Given the description of an element on the screen output the (x, y) to click on. 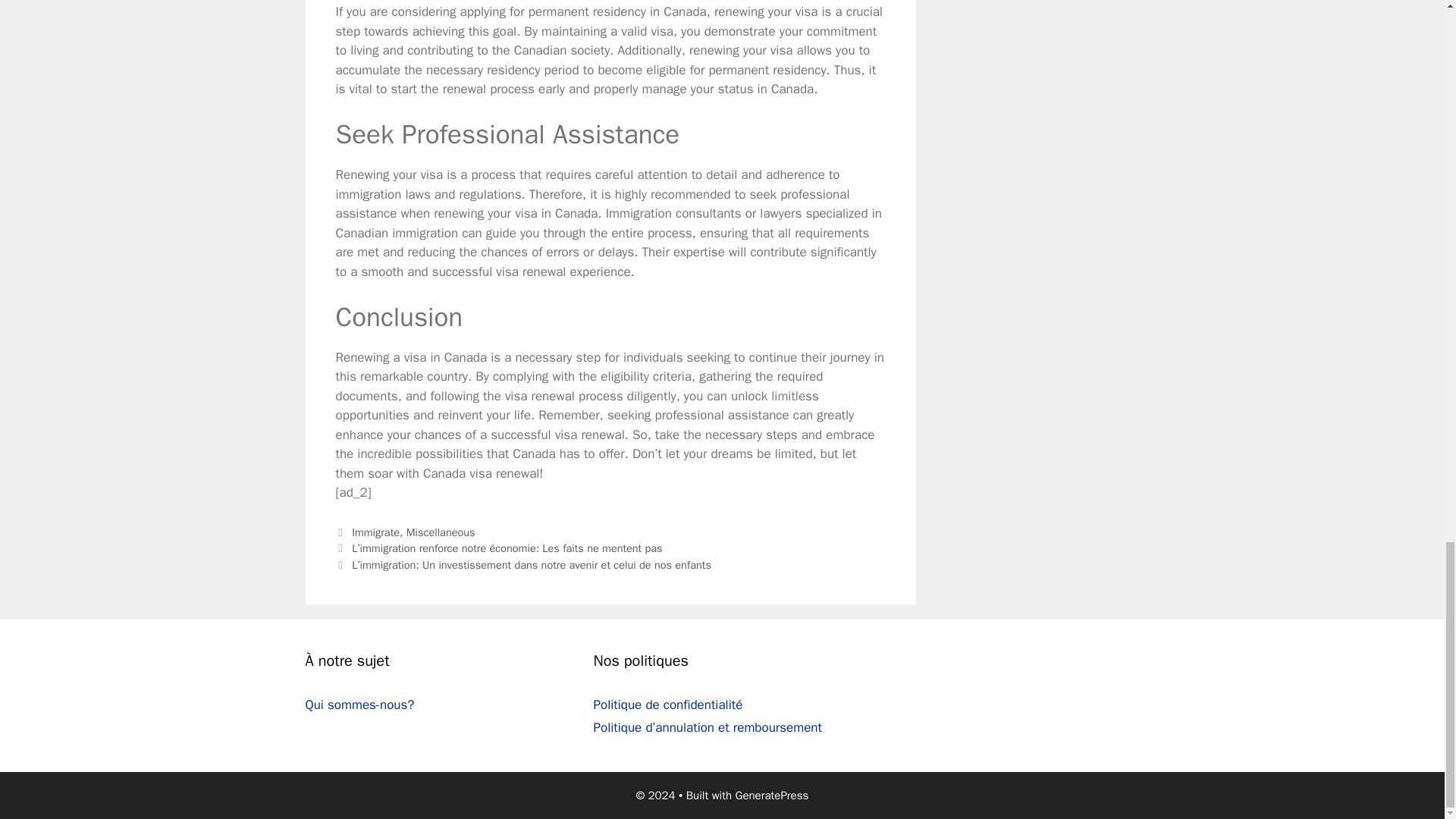
Qui sommes-nous? (358, 704)
Immigrate (375, 531)
Miscellaneous (441, 531)
